Given the description of an element on the screen output the (x, y) to click on. 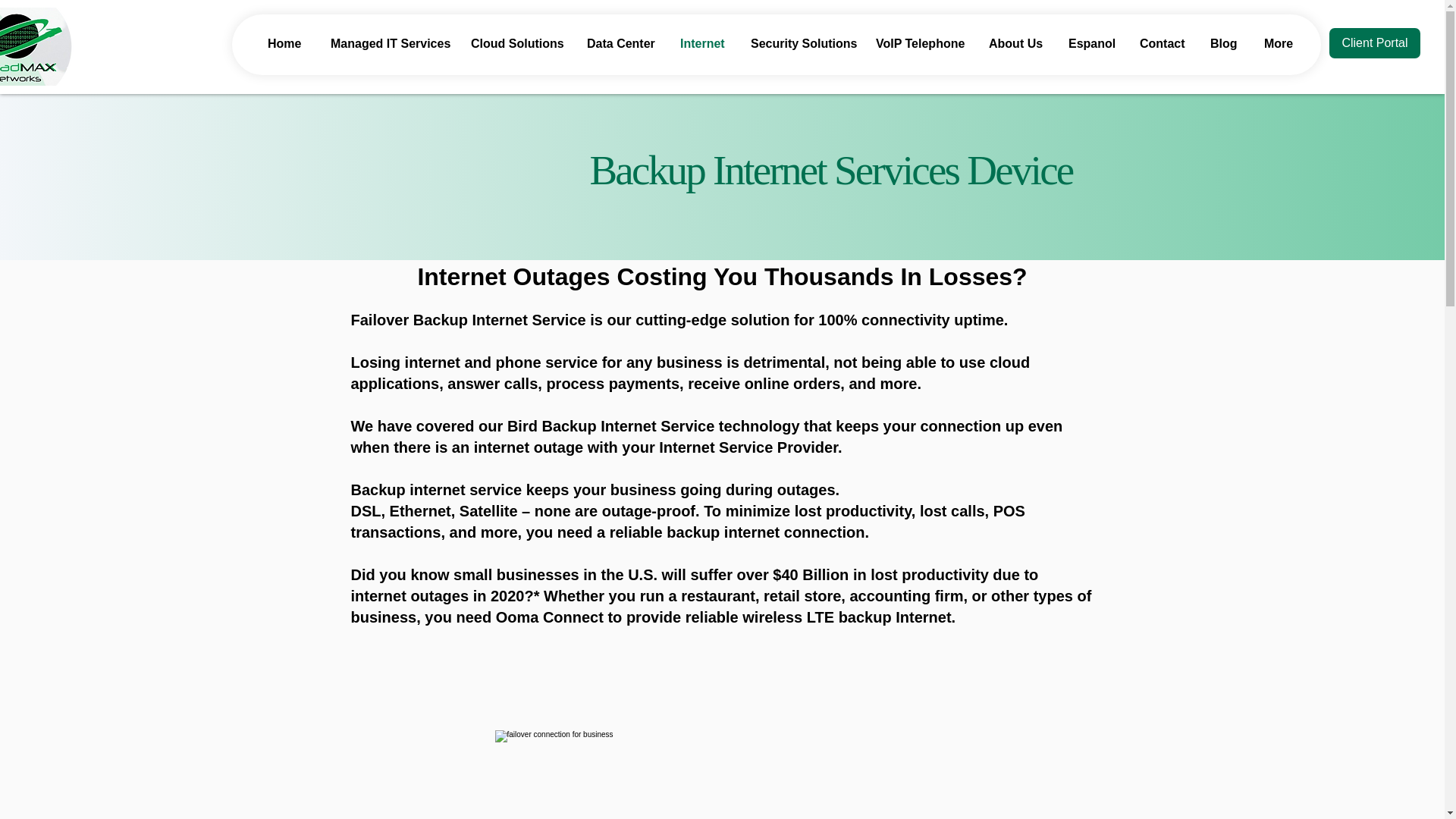
Managed IT Services (389, 43)
Data Center (621, 43)
Internet (703, 43)
Cloud Solutions (517, 43)
Home (287, 43)
